Given the description of an element on the screen output the (x, y) to click on. 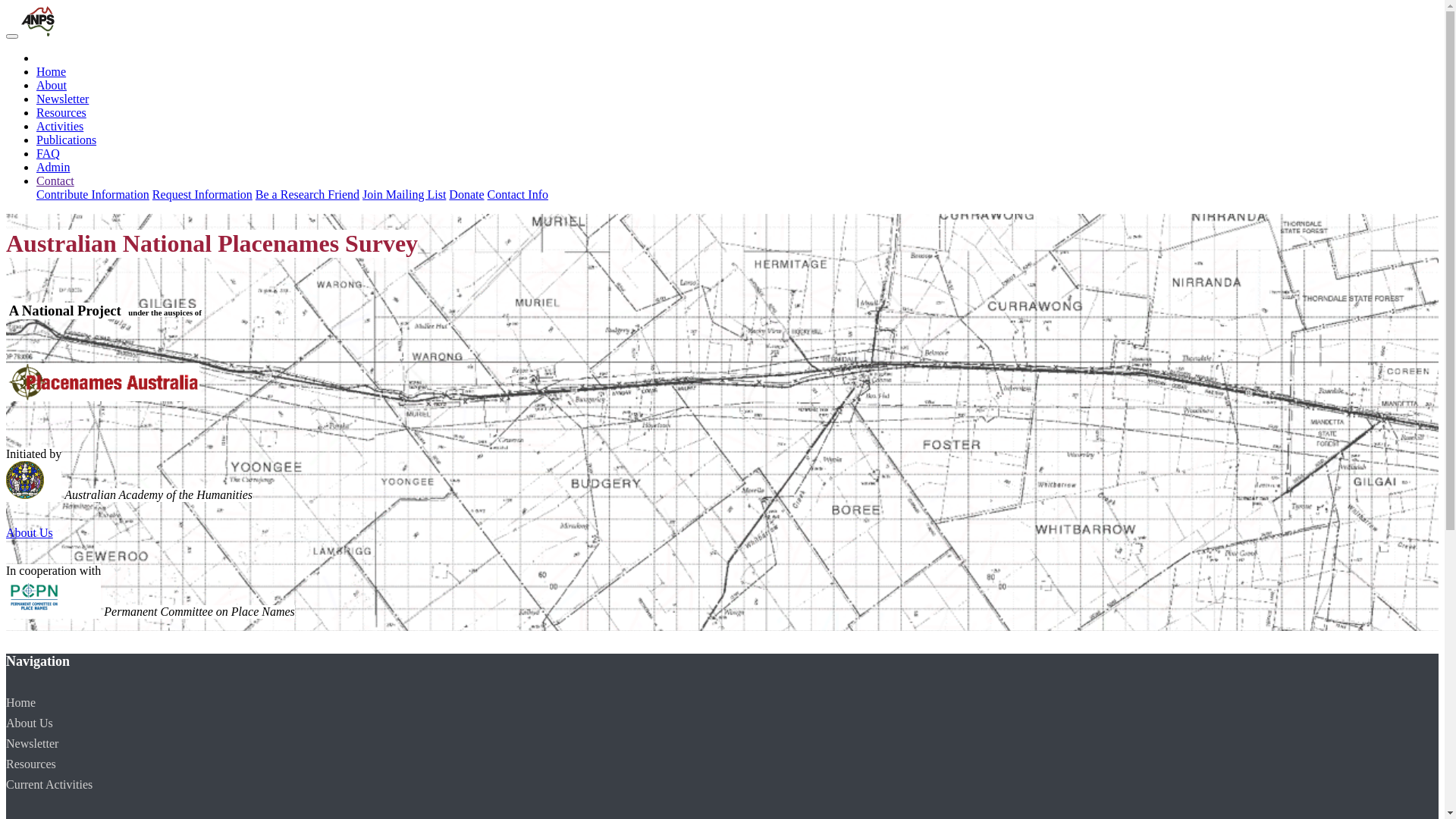
Home Element type: text (50, 71)
About Us Element type: text (29, 722)
Donate Element type: text (465, 194)
About Element type: text (51, 84)
Resources Element type: text (31, 763)
FAQ Element type: text (47, 153)
Newsletter Element type: text (32, 743)
Contact Element type: text (55, 180)
About Us Element type: text (29, 532)
Join Mailing List Element type: text (403, 194)
Current Activities Element type: text (49, 784)
Admin Element type: text (52, 166)
Home Element type: text (20, 702)
Contribute Information Element type: text (92, 194)
Be a Research Friend Element type: text (307, 194)
Contact Info Element type: text (517, 194)
Publications Element type: text (66, 139)
Request Information Element type: text (202, 194)
Newsletter Element type: text (62, 98)
Activities Element type: text (59, 125)
Resources Element type: text (61, 112)
